Given the description of an element on the screen output the (x, y) to click on. 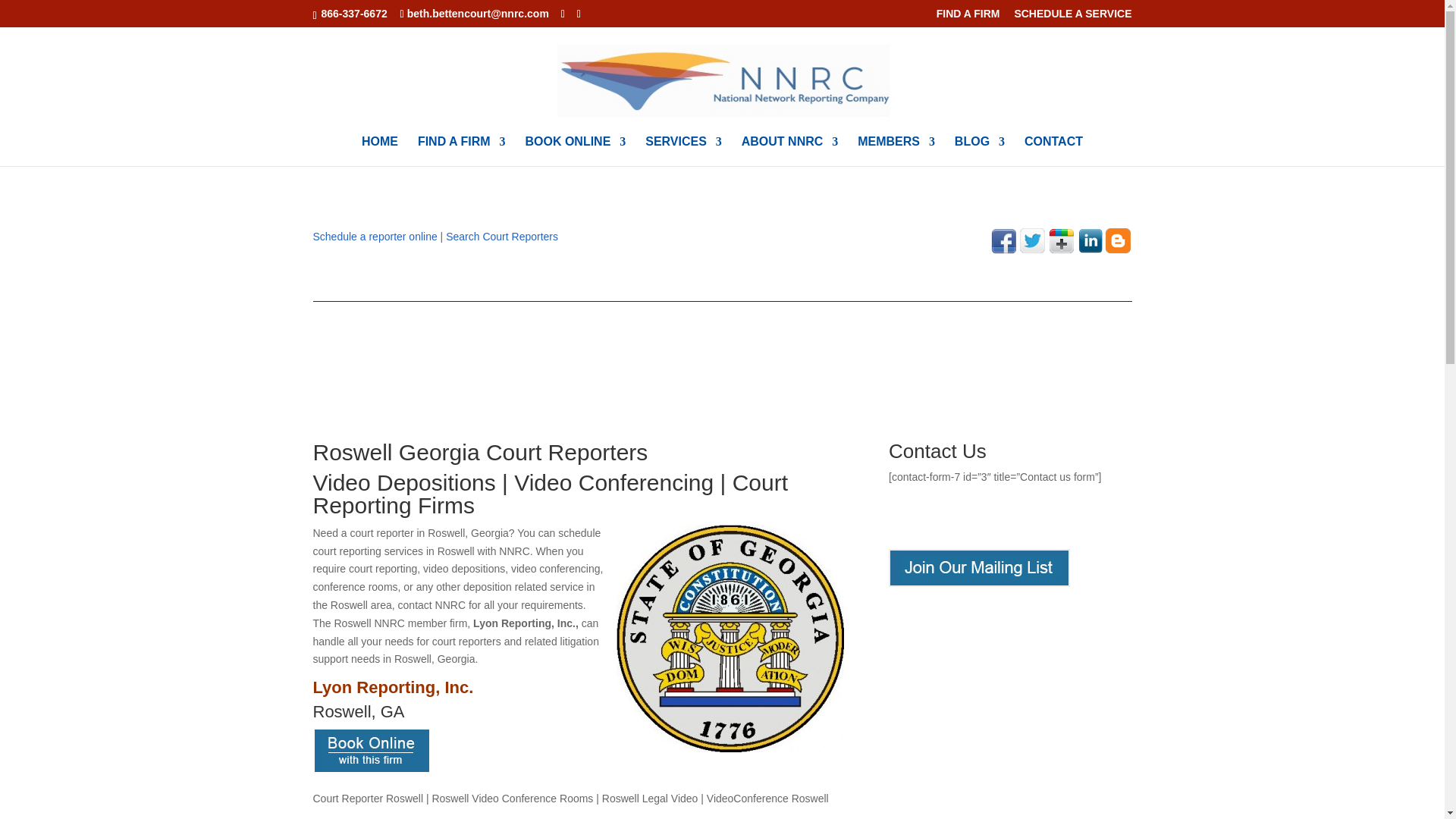
BOOK ONLINE (575, 151)
HOME (379, 151)
SCHEDULE A SERVICE (1072, 16)
SERVICES (683, 151)
FIND A FIRM (968, 16)
FIND A FIRM (461, 151)
